Given the description of an element on the screen output the (x, y) to click on. 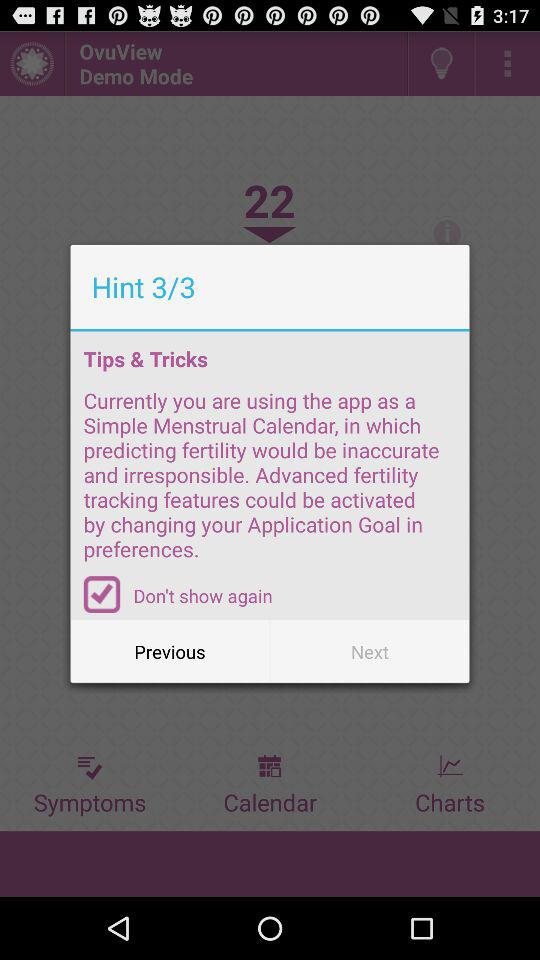
launch icon below the currently you are item (101, 594)
